Given the description of an element on the screen output the (x, y) to click on. 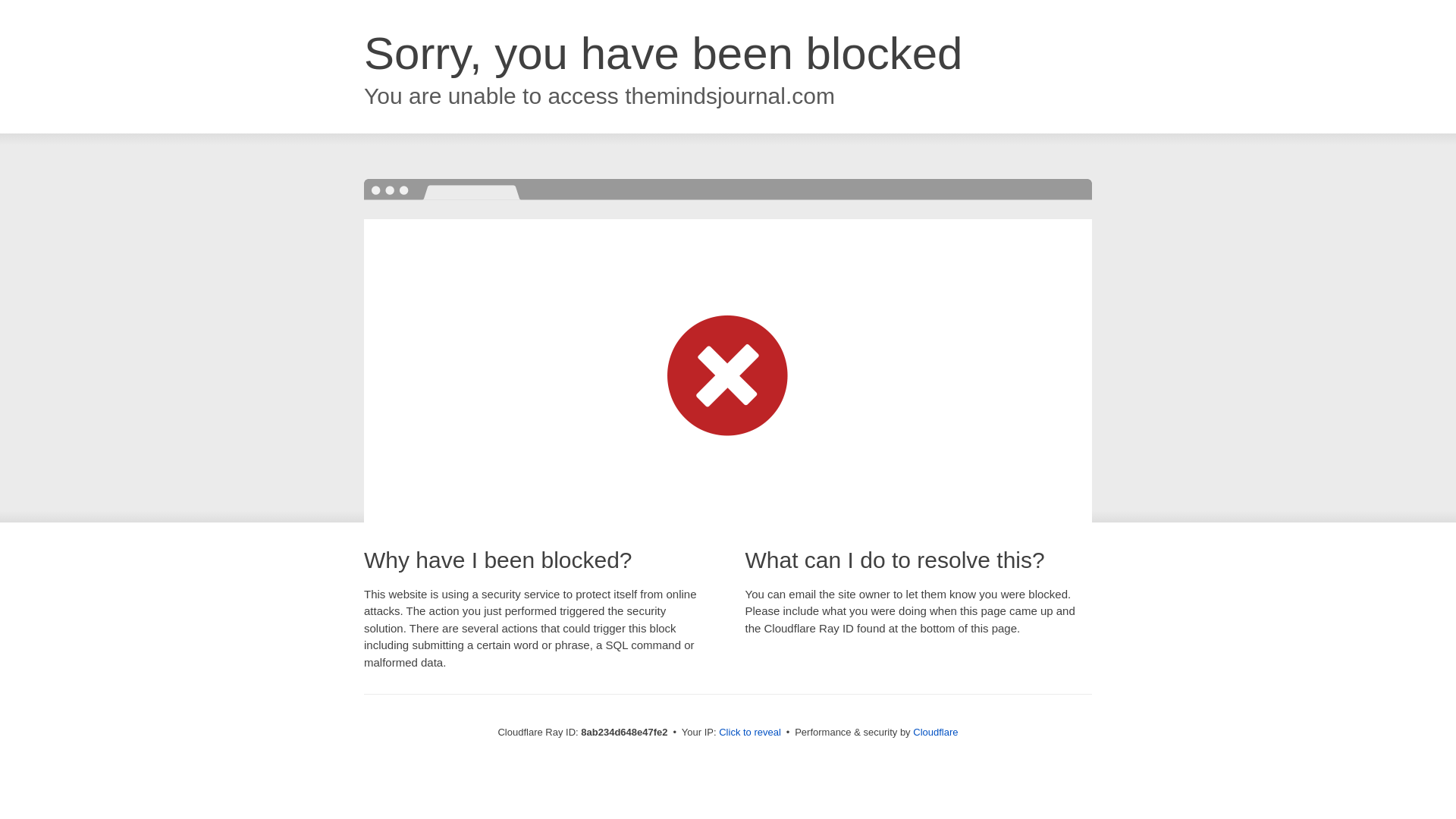
Cloudflare (935, 731)
Click to reveal (749, 732)
